Given the description of an element on the screen output the (x, y) to click on. 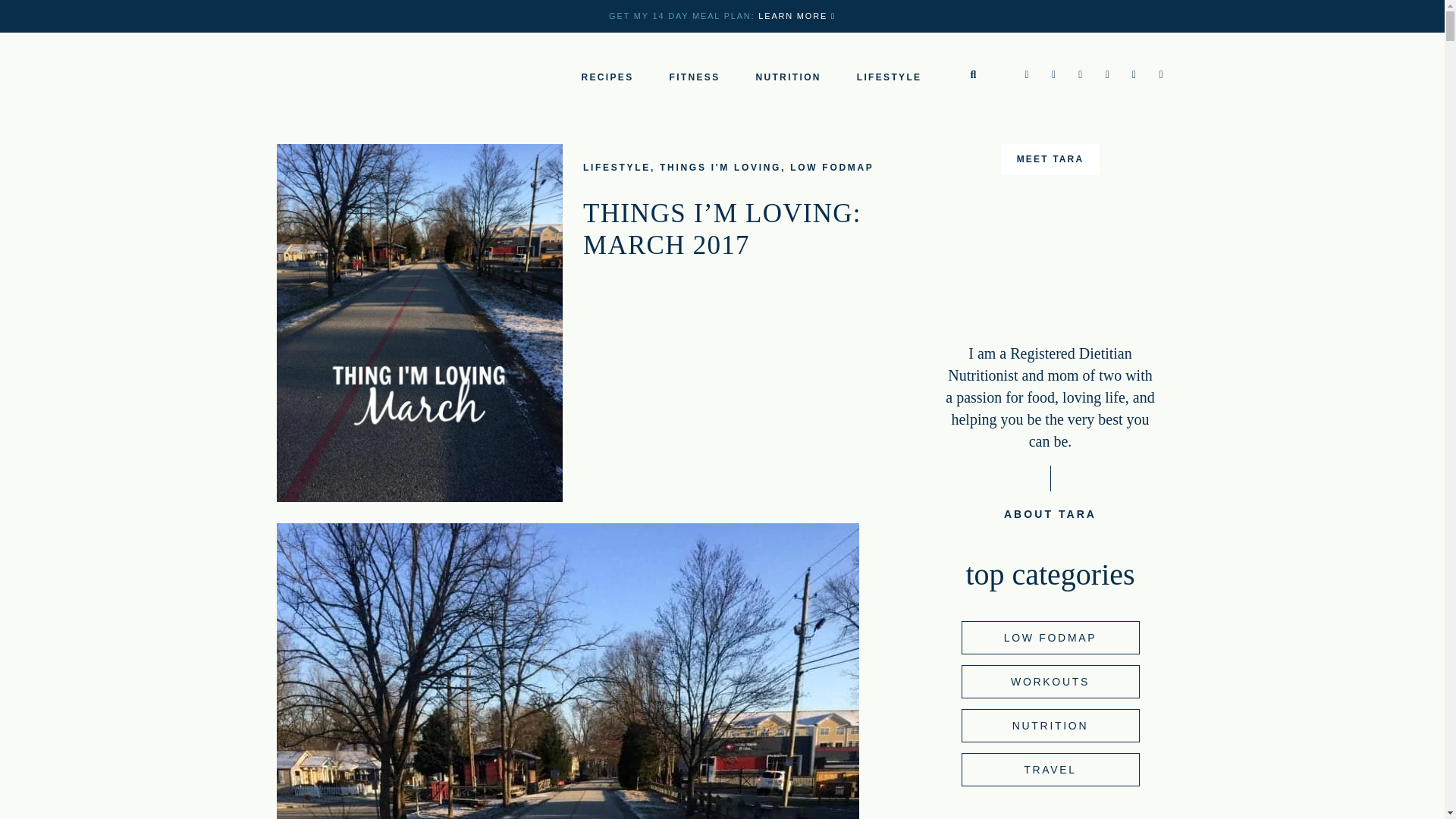
RECIPES (606, 77)
LIFESTYLE (616, 167)
THINGS I'M LOVING (719, 167)
LIFESTYLE (889, 77)
LEARN MORE (796, 15)
LOW FODMAP (831, 167)
NUTRITION (788, 77)
FITNESS (693, 77)
